Given the description of an element on the screen output the (x, y) to click on. 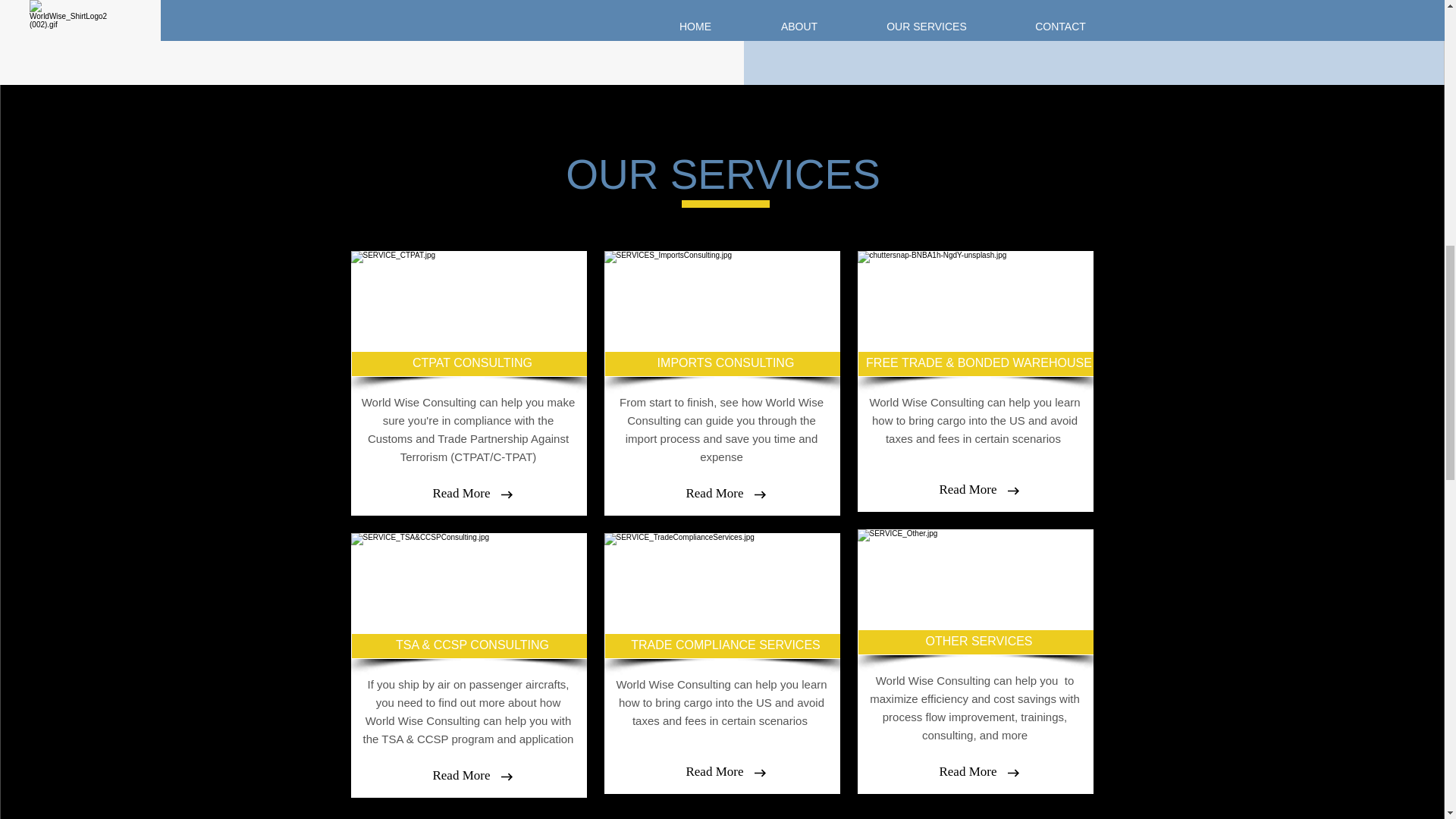
OTHER SERVICES (978, 642)
Read More (715, 771)
IMPORTS CONSULTING (725, 363)
CTPAT CONSULTING (472, 363)
Read More (968, 489)
Read More (715, 493)
TRADE COMPLIANCE SERVICES (725, 646)
Read More (968, 771)
Read More (462, 493)
Read More (462, 775)
